Given the description of an element on the screen output the (x, y) to click on. 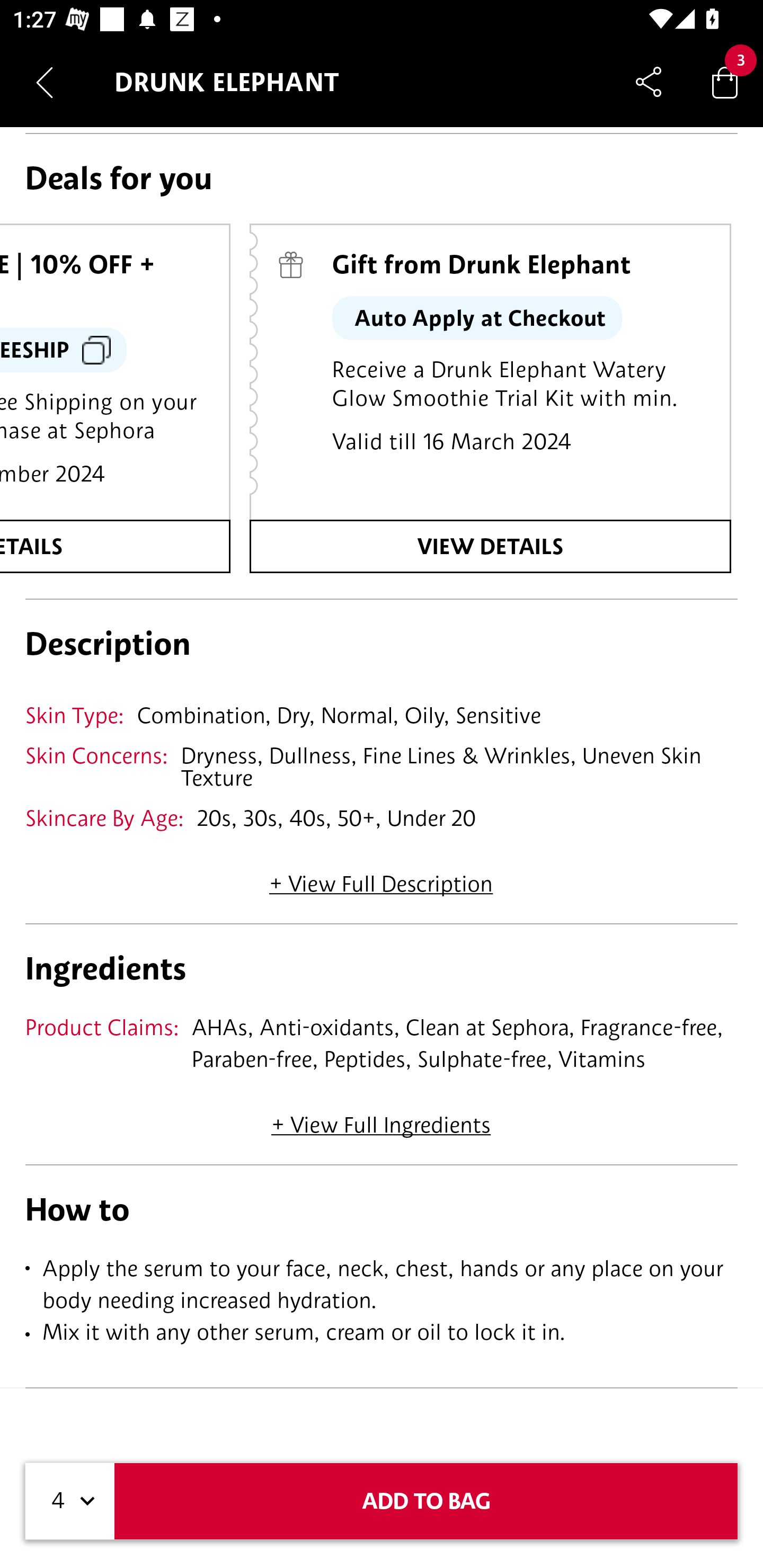
Navigate up (44, 82)
Share (648, 81)
Bag (724, 81)
VIEW DETAILS (489, 546)
+ View Full Description (380, 877)
+ View Full Ingredients (380, 1118)
4 (69, 1500)
ADD TO BAG (425, 1500)
